Given the description of an element on the screen output the (x, y) to click on. 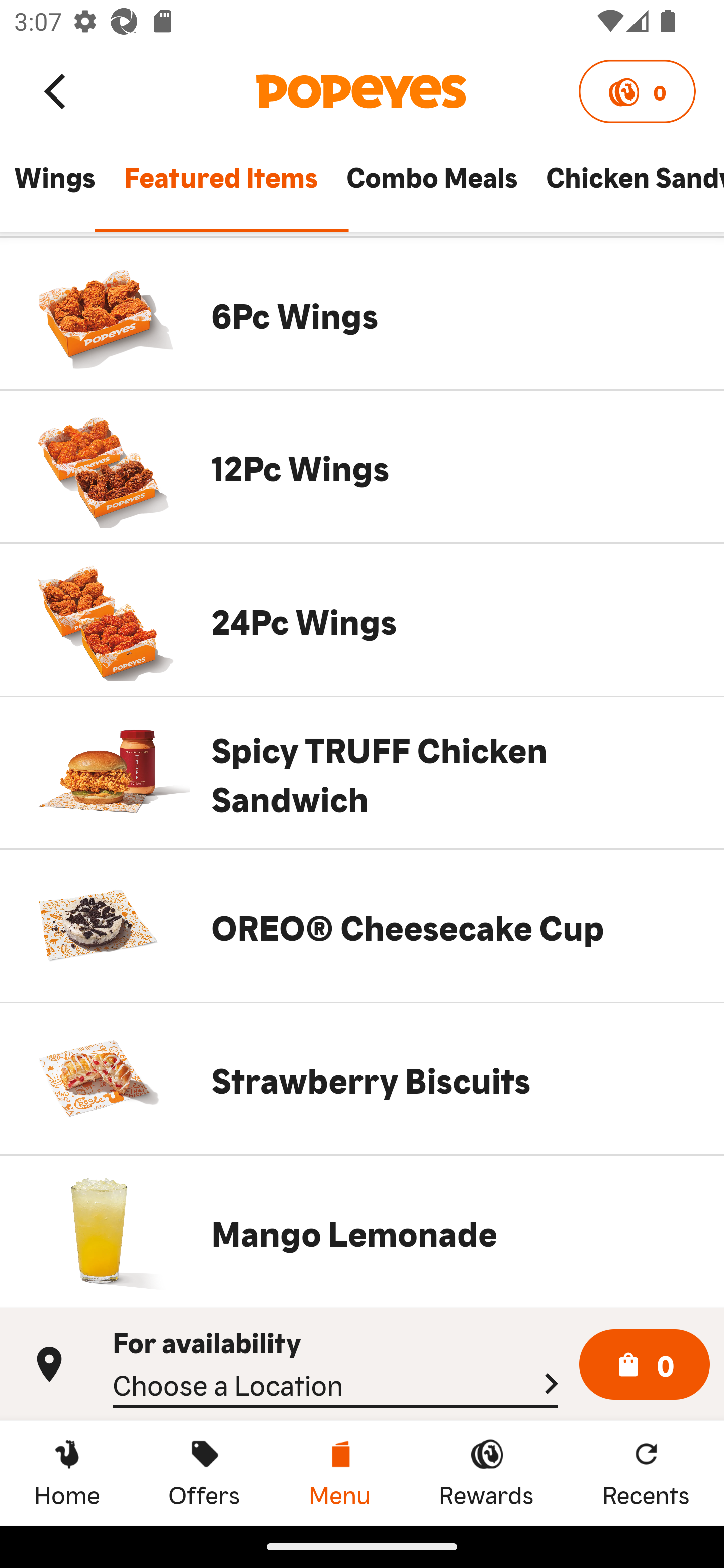
Back (56, 90)
0 Points 0 (636, 91)
Wings (54, 186)
Featured Items (220, 186)
Combo Meals (431, 186)
Chicken Sandwich   (627, 186)
0 Cart total  0 (644, 1364)
Home Home Home (66, 1472)
Offers Offers Offers (203, 1472)
Menu, current page Menu Menu, current page (339, 1472)
Rewards Rewards Rewards (486, 1472)
Recents Recents Recents (646, 1472)
